Given the description of an element on the screen output the (x, y) to click on. 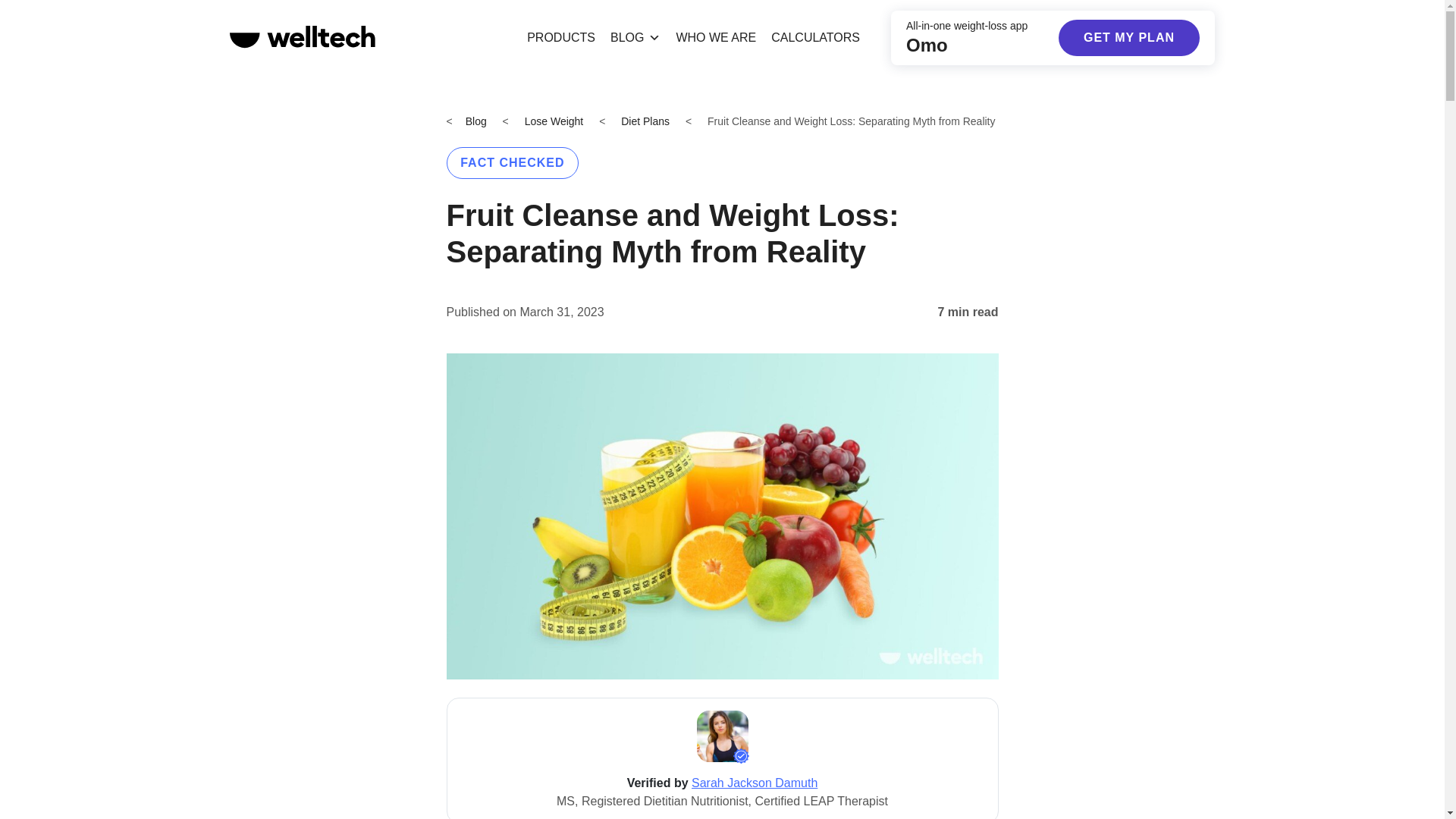
PRODUCTS (560, 37)
Sarah Jackson Damuth (753, 782)
FACT CHECKED (511, 163)
GET MY PLAN (1128, 37)
CALCULATORS (814, 37)
Blog (475, 121)
BLOG (635, 37)
Diet Plans (645, 121)
WHO WE ARE (715, 37)
Lose Weight (553, 121)
